Given the description of an element on the screen output the (x, y) to click on. 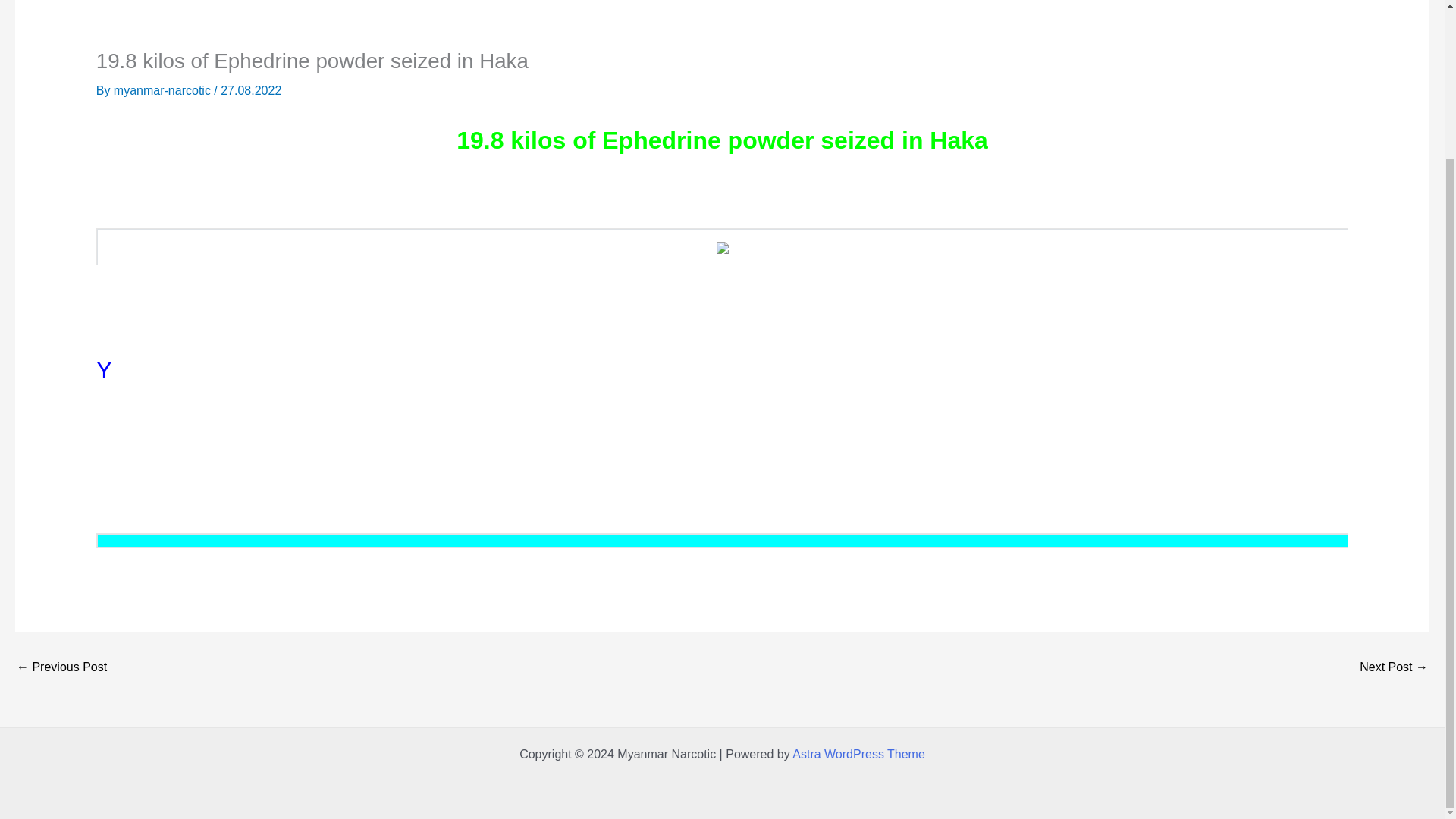
myanmar-narcotic (163, 90)
View all posts by myanmar-narcotic (61, 666)
Astra WordPress Theme (163, 90)
